Given the description of an element on the screen output the (x, y) to click on. 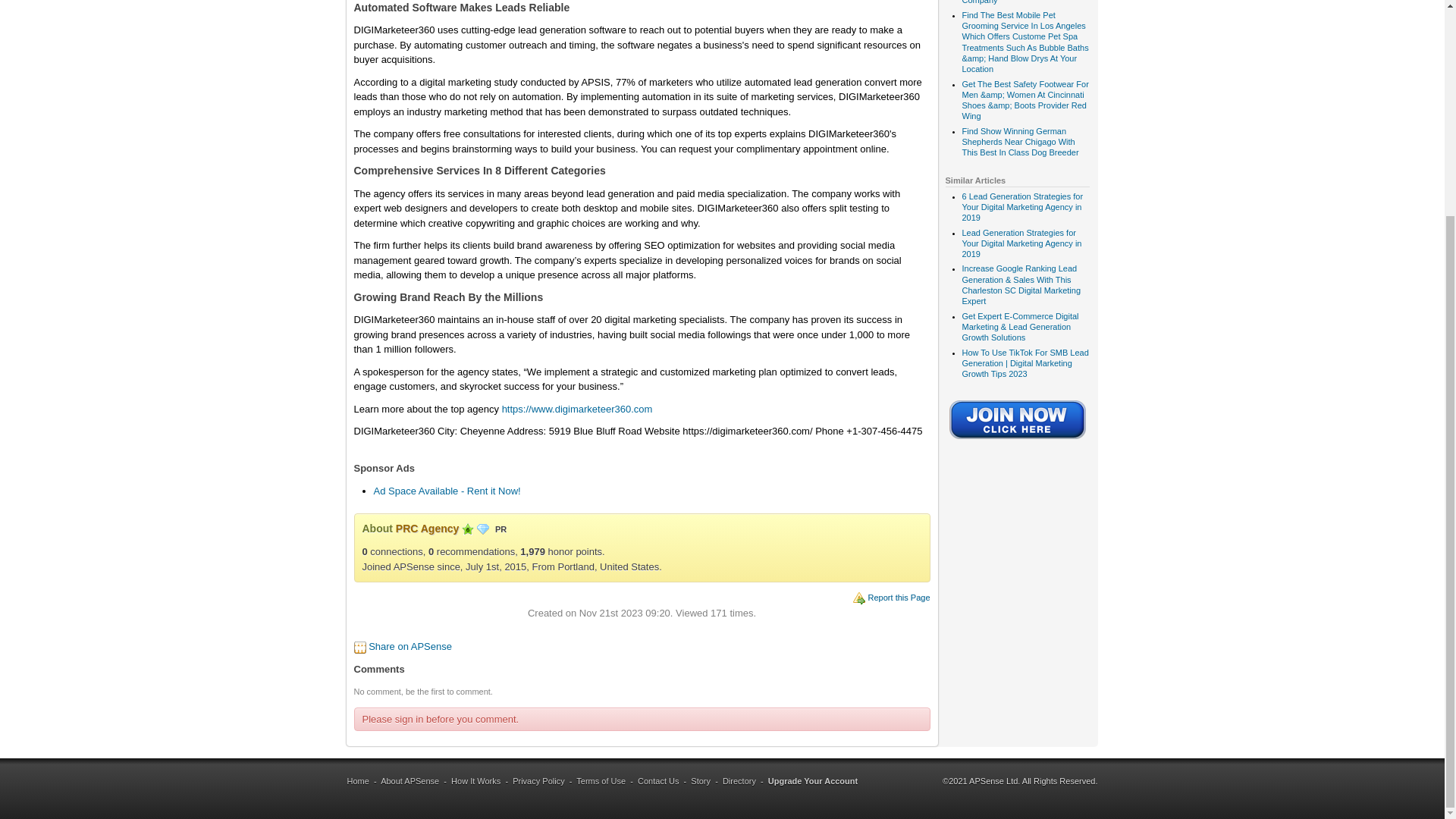
Share on APSense (409, 645)
Committed (467, 529)
Share on APSense (409, 645)
Report this Page (898, 596)
